Given the description of an element on the screen output the (x, y) to click on. 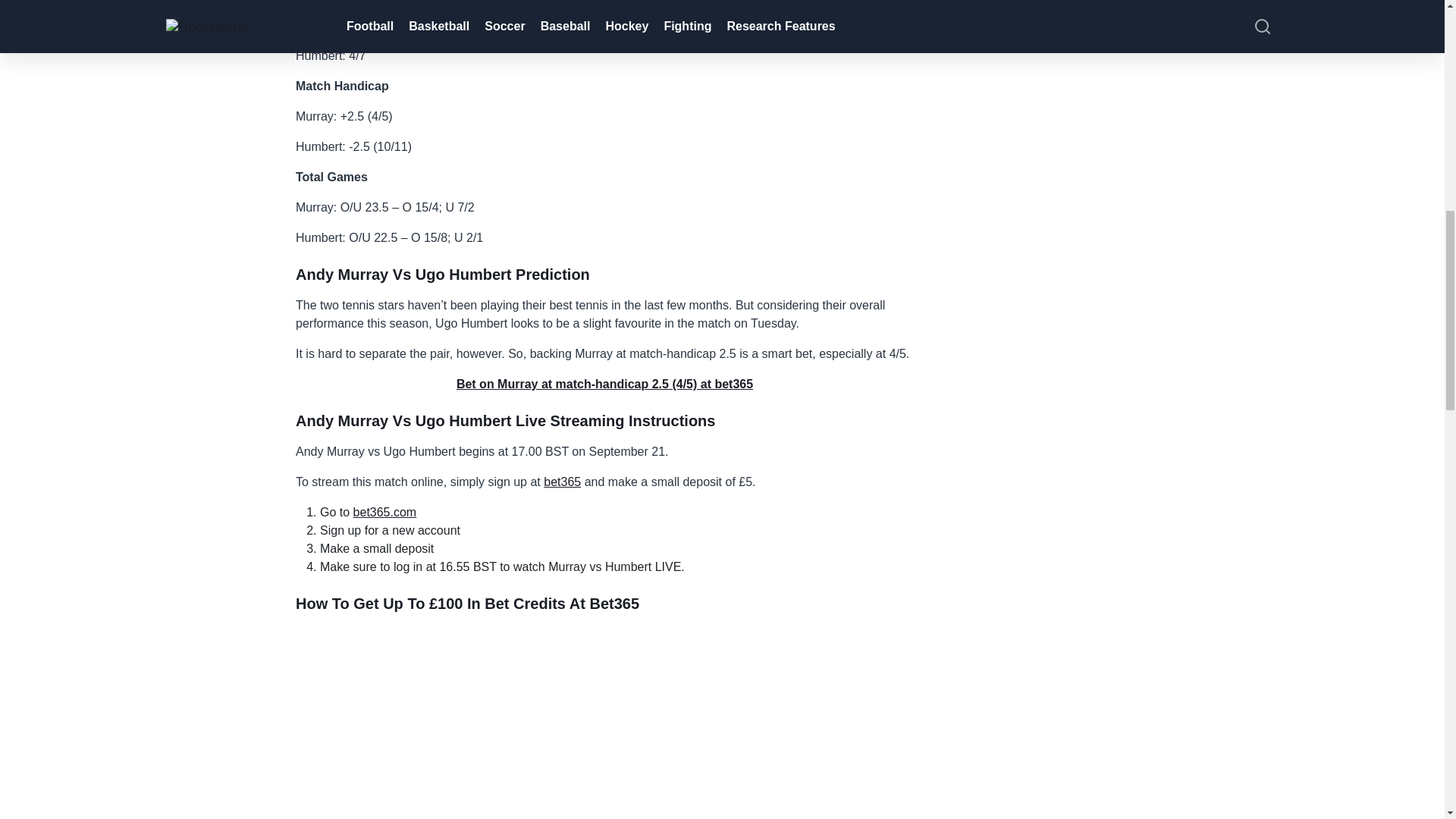
Screenshot 2021 09 17 at 11.43.44 (604, 722)
bet365.com (384, 512)
bet365 (561, 481)
